Given the description of an element on the screen output the (x, y) to click on. 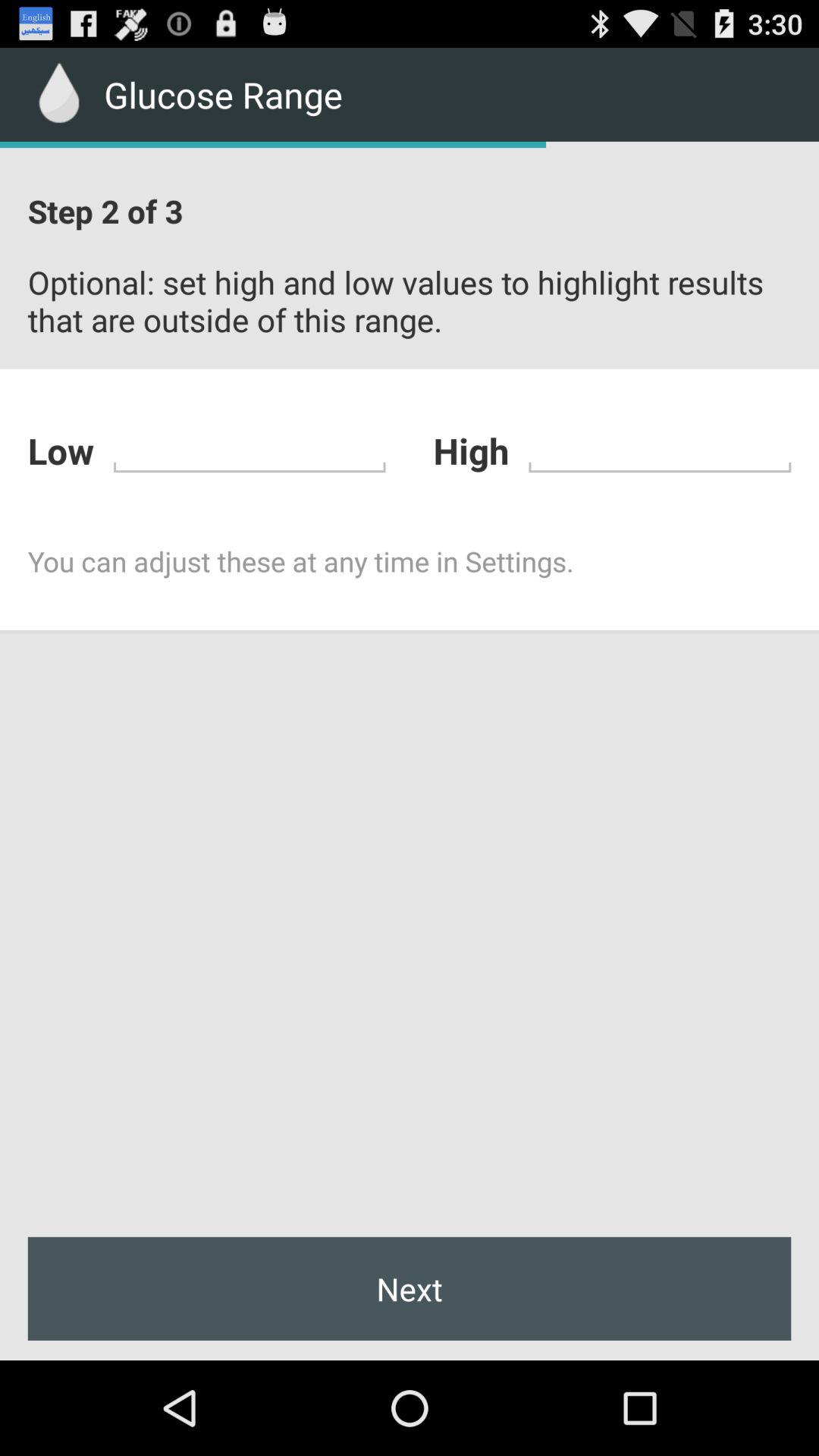
enter low values (249, 448)
